Given the description of an element on the screen output the (x, y) to click on. 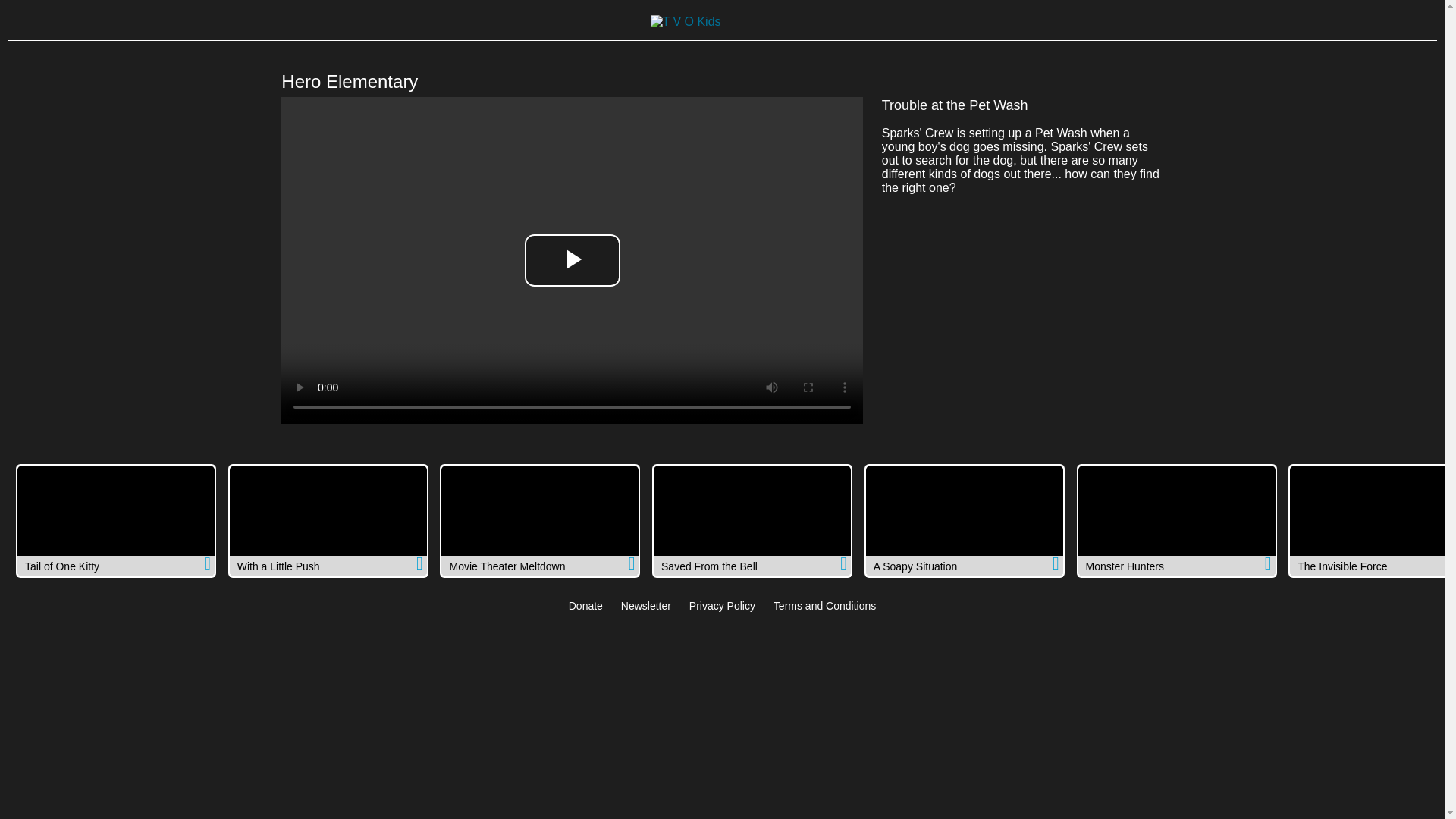
T V O Kids Logo (685, 21)
Play Video (572, 260)
Saved From the Bell (751, 521)
A Soapy Situation (964, 521)
Monster Hunters (1176, 521)
With a Little Push (328, 521)
Play Video (572, 260)
Tail of One Kitty (115, 521)
Movie Theater Meltdown (539, 521)
